Given the description of an element on the screen output the (x, y) to click on. 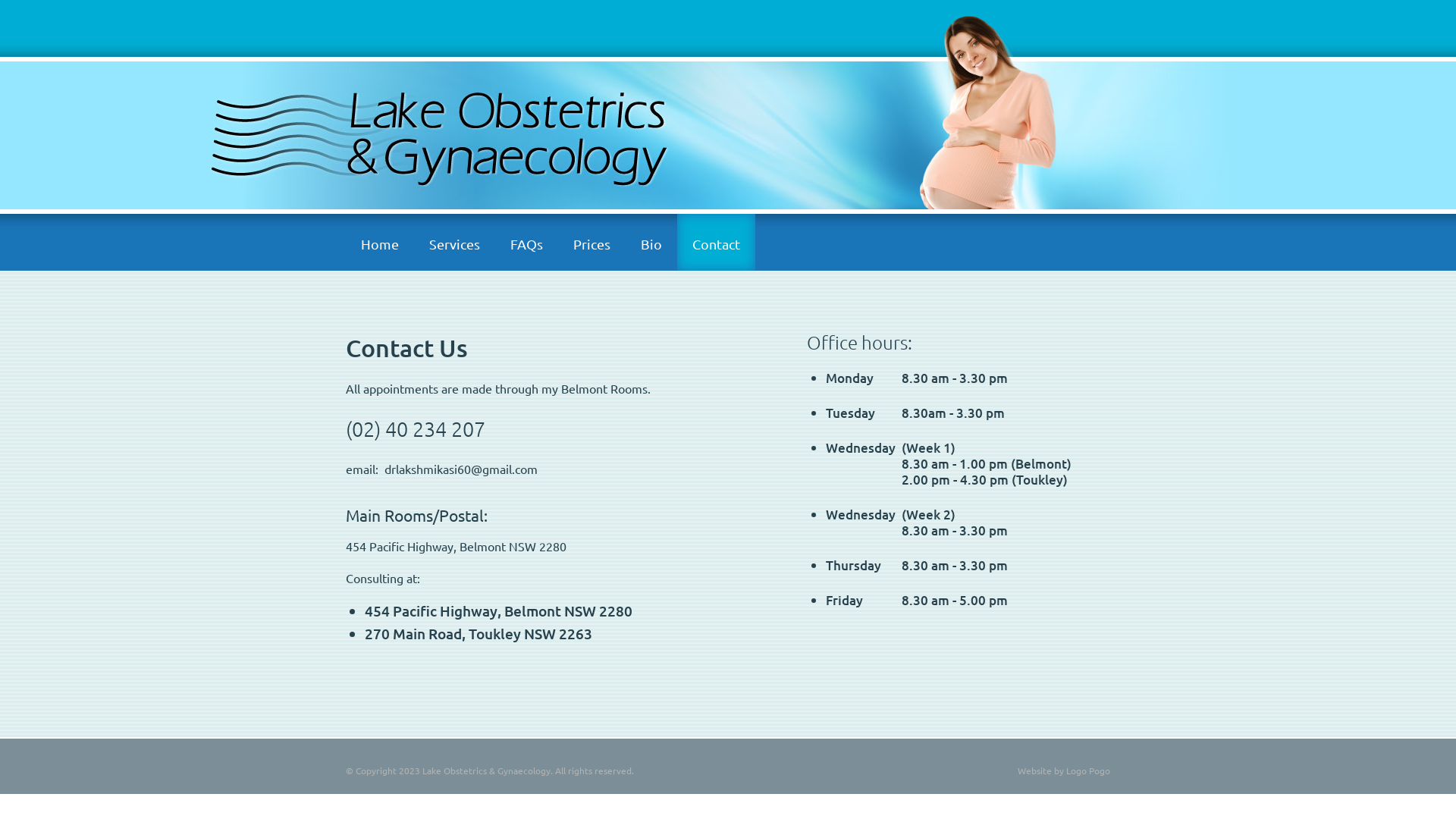
Services Element type: text (454, 241)
Bio Element type: text (651, 241)
FAQs Element type: text (526, 241)
Website by Logo Pogo Element type: text (1063, 770)
Prices Element type: text (591, 241)
Home Element type: text (379, 241)
Contact Element type: text (716, 241)
